Given the description of an element on the screen output the (x, y) to click on. 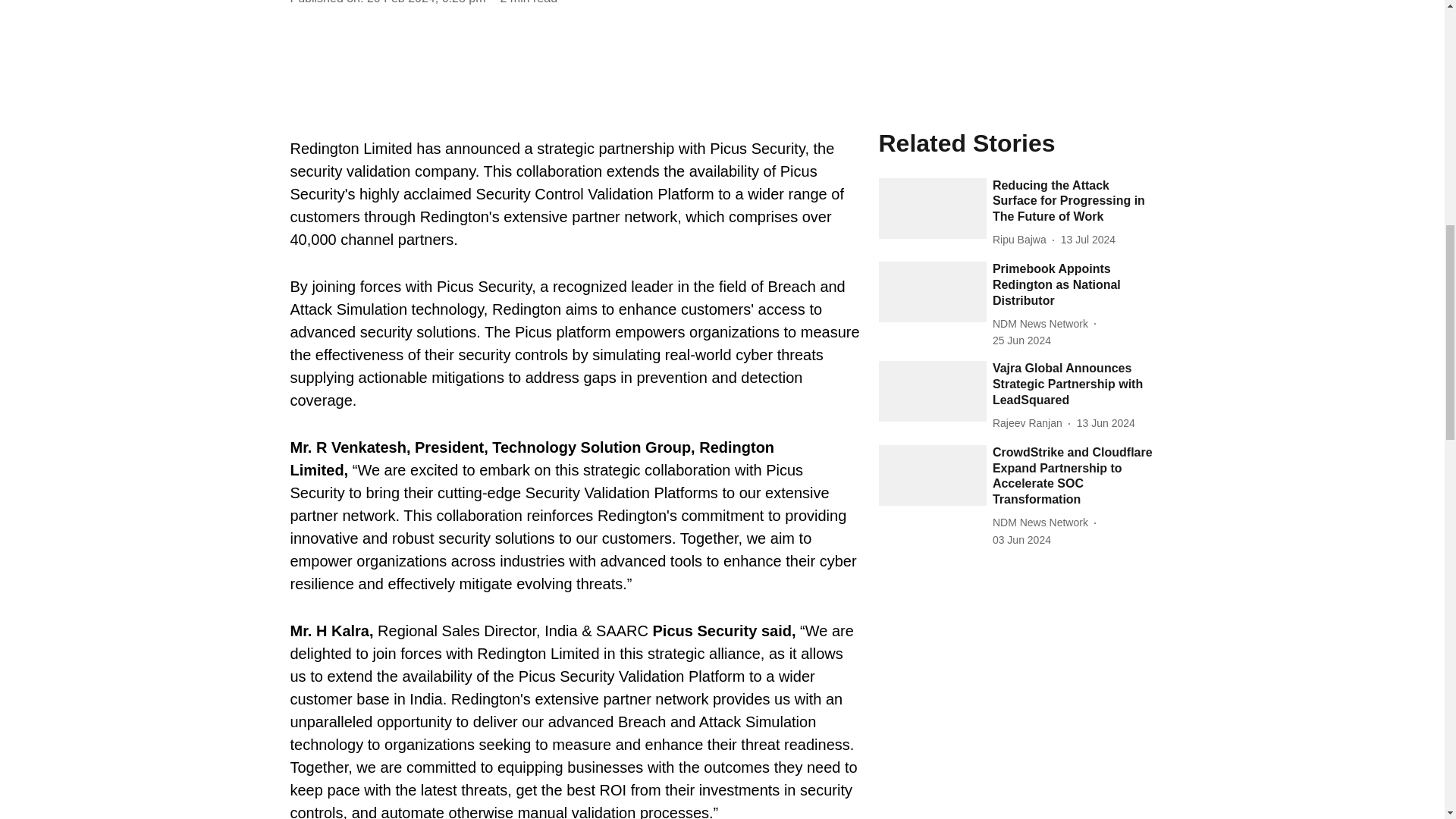
2024-07-13 07:36 (1088, 239)
2024-06-03 06:02 (1021, 539)
2024-06-25 12:29 (1021, 340)
2024-02-20 10:28 (426, 2)
3rd party ad content (1015, 685)
2024-06-13 12:46 (1106, 423)
3rd party ad content (1015, 44)
3rd party ad content (574, 72)
